Given the description of an element on the screen output the (x, y) to click on. 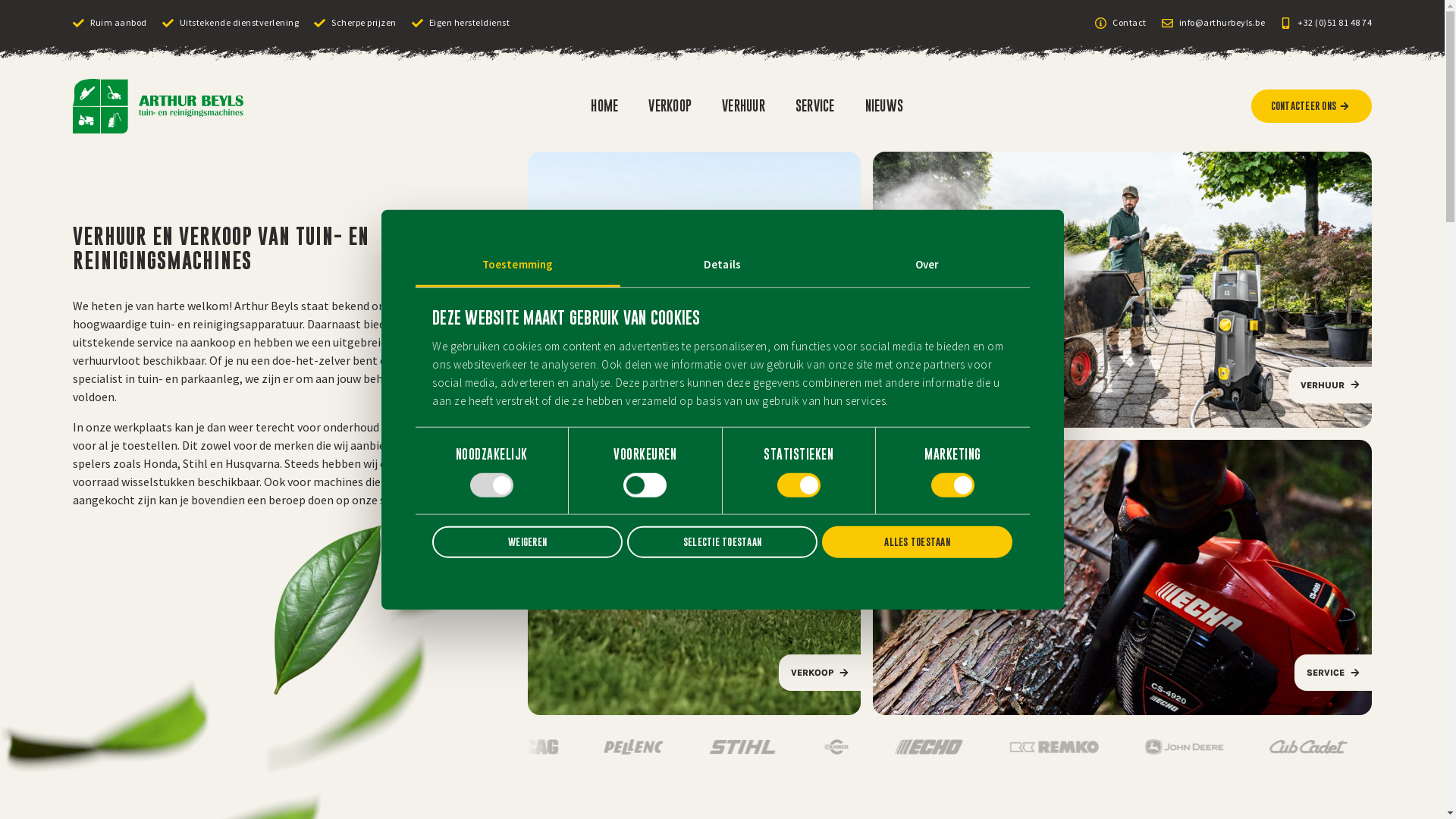
Over Element type: text (927, 265)
ALLES TOESTAAN Element type: text (917, 542)
Contact Element type: text (1120, 22)
VERHUUR Element type: text (743, 105)
HOME Element type: text (604, 105)
Details Element type: text (722, 265)
+32 (0)51 81 48 74 Element type: text (1325, 22)
info@arthurbeyls.be Element type: text (1213, 22)
VERHUUR Element type: text (1121, 289)
WEIGEREN Element type: text (527, 542)
SERVICE Element type: text (1121, 577)
SERVICE Element type: text (815, 105)
NIEUWS Element type: text (884, 105)
CONTACTEER ONS Element type: text (1311, 105)
VERKOOP Element type: text (669, 105)
Toestemming Element type: text (517, 265)
SELECTIE TOESTAAN Element type: text (722, 542)
VERKOOP Element type: text (693, 433)
